Given the description of an element on the screen output the (x, y) to click on. 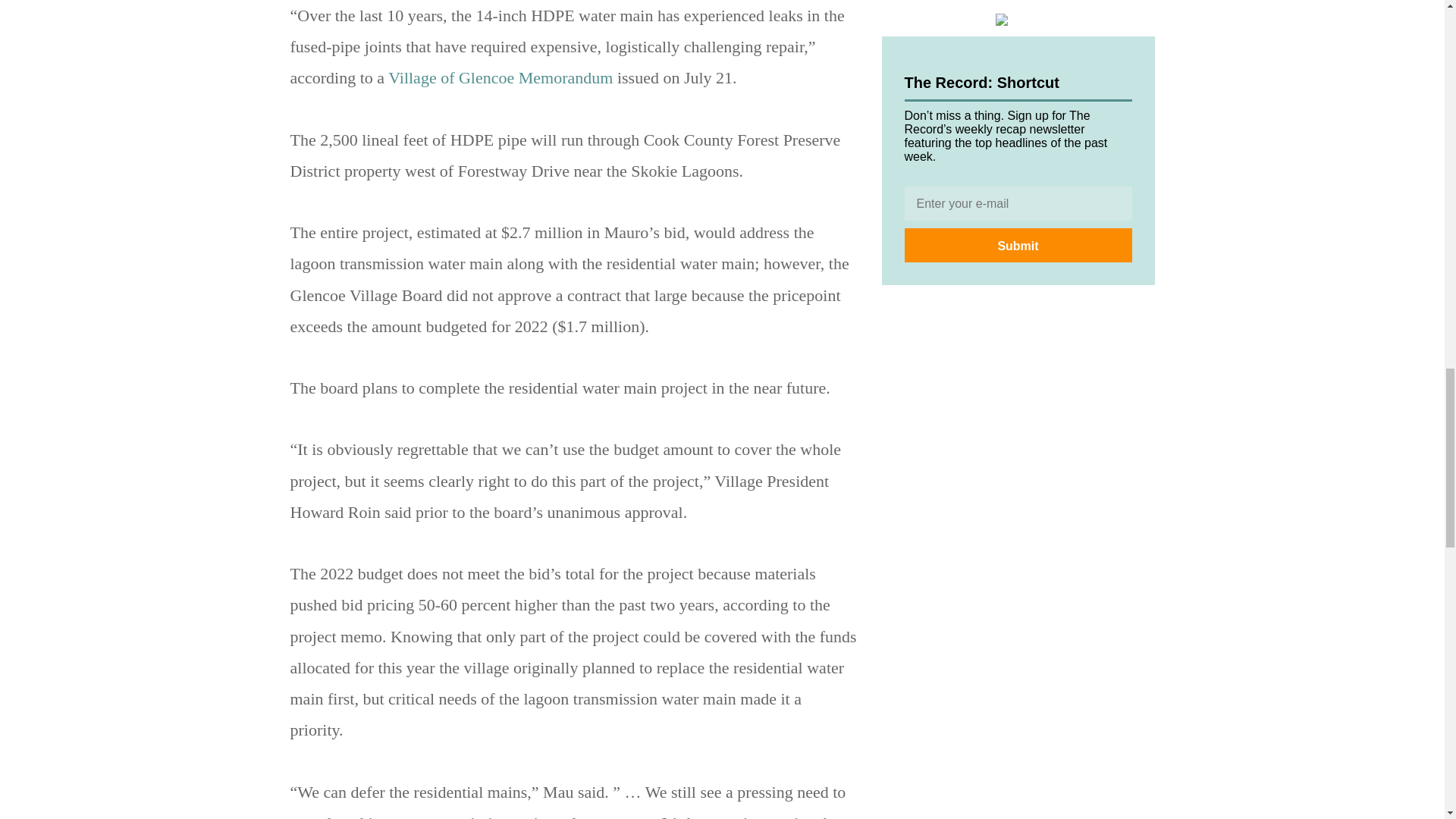
Submit (1017, 245)
